Given the description of an element on the screen output the (x, y) to click on. 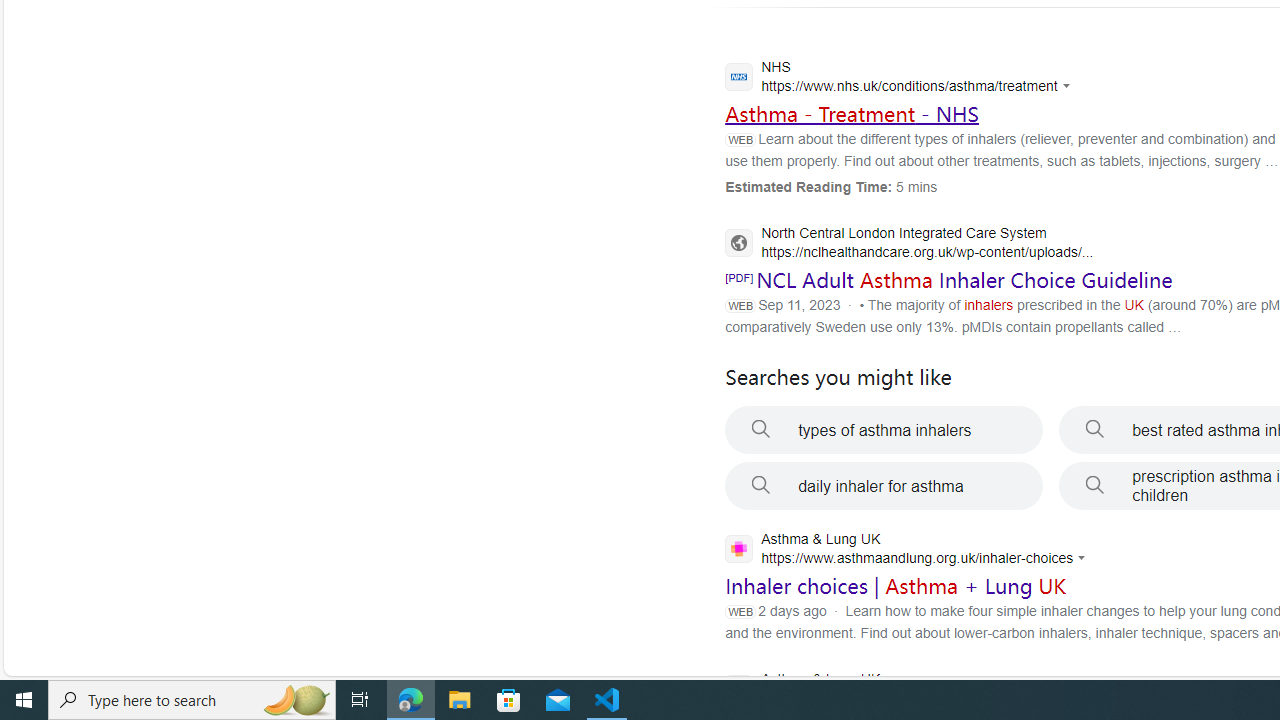
Global web icon (738, 548)
Actions for this site (1084, 557)
NHS (902, 79)
North Central London Integrated Care System (909, 244)
Asthma & Lung UK (902, 691)
Asthma - Treatment - NHS (851, 113)
types of asthma inhalers (884, 430)
daily inhaler for asthma (884, 485)
types of asthma inhalers (884, 430)
Inhaler choices | Asthma + Lung UK (895, 586)
daily inhaler for asthma (884, 485)
NCL Adult Asthma Inhaler Choice Guideline (964, 280)
Estimated Reading Time: 5 mins (831, 186)
